Given the description of an element on the screen output the (x, y) to click on. 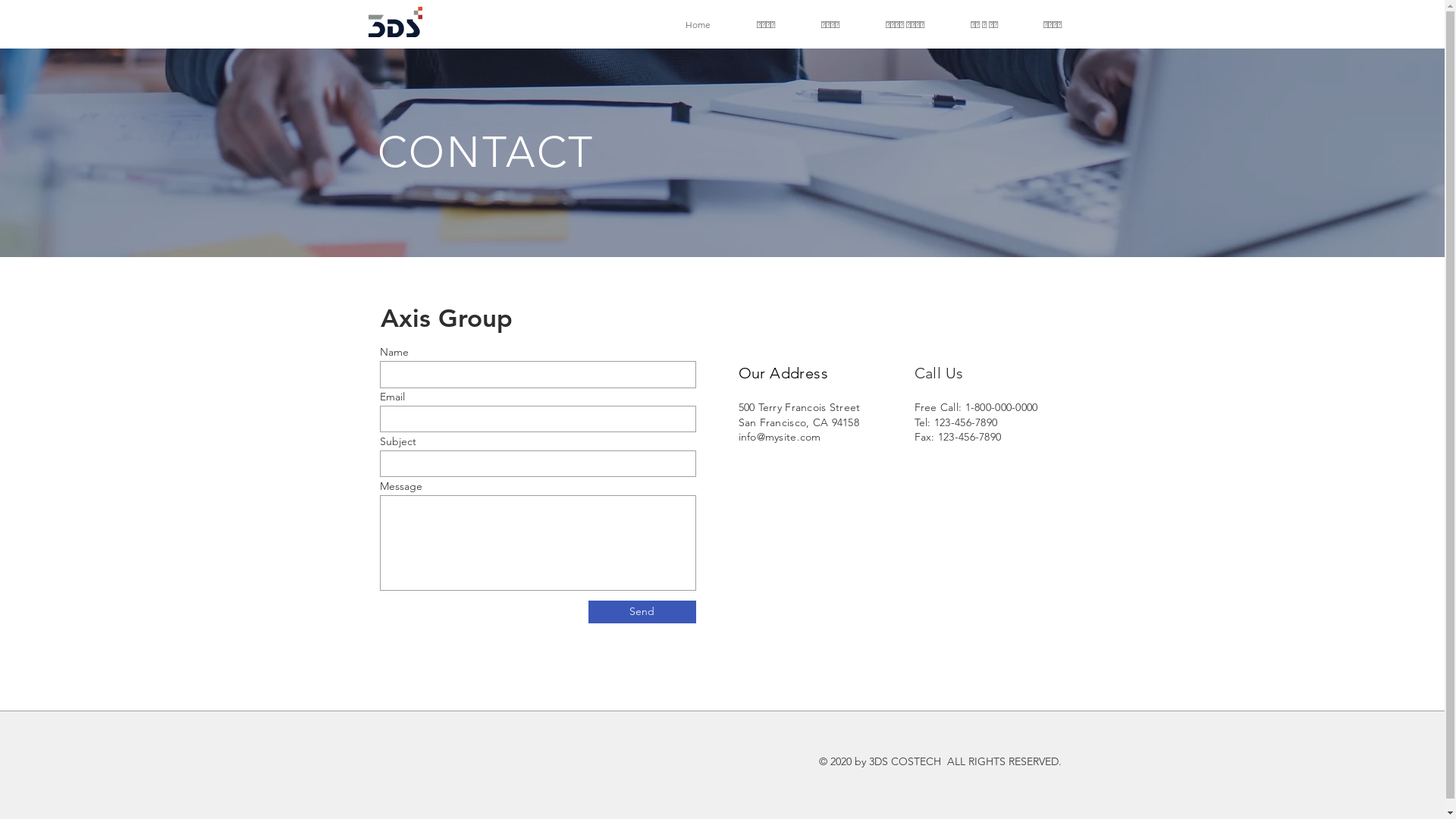
Send Element type: text (642, 611)
info@mysite.com Element type: text (779, 436)
Home Element type: text (698, 24)
